Given the description of an element on the screen output the (x, y) to click on. 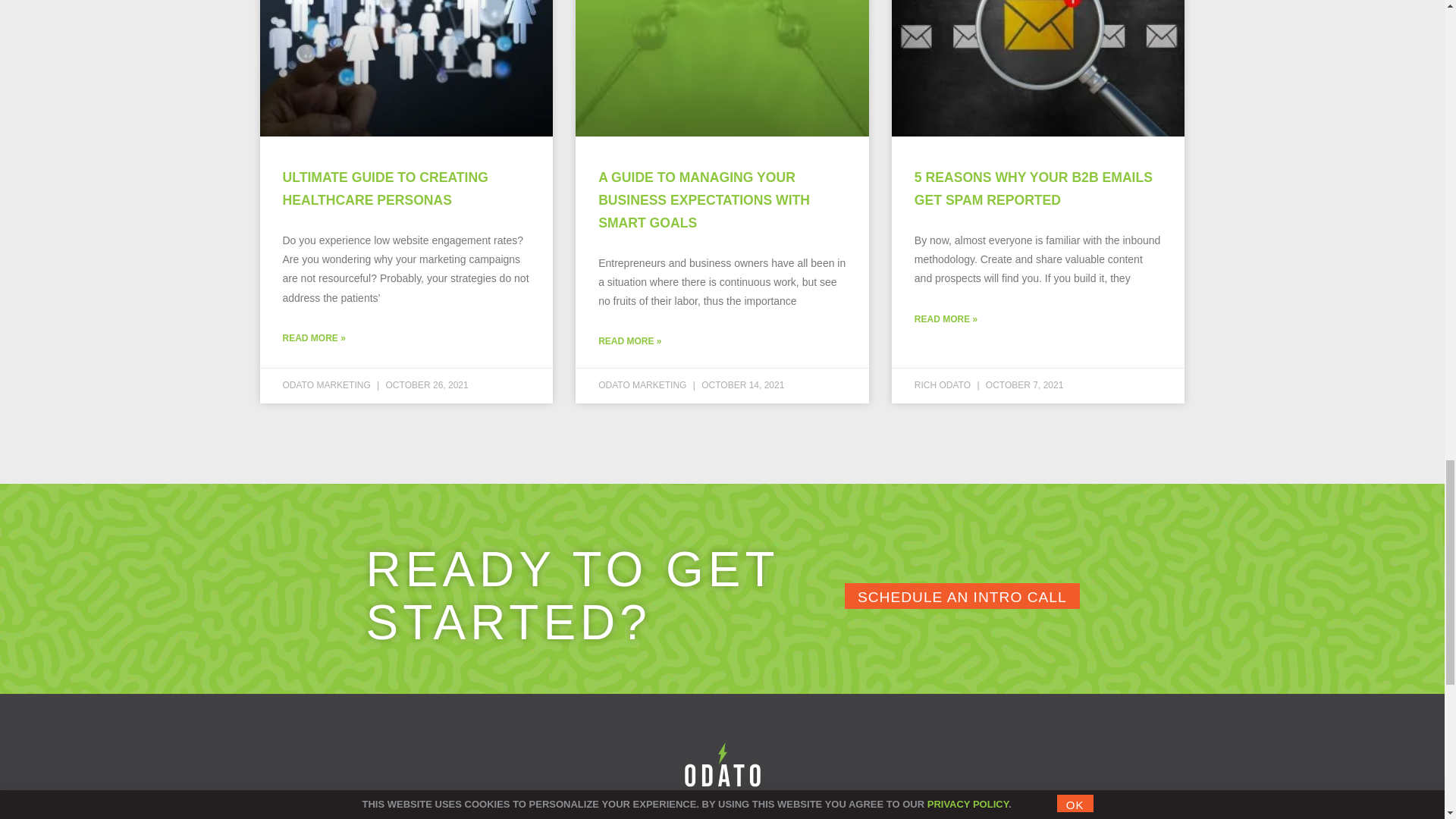
SCHEDULE AN INTRO CALL (962, 596)
ULTIMATE GUIDE TO CREATING HEALTHCARE PERSONAS (384, 188)
5 REASONS WHY YOUR B2B EMAILS GET SPAM REPORTED (1033, 188)
